Given the description of an element on the screen output the (x, y) to click on. 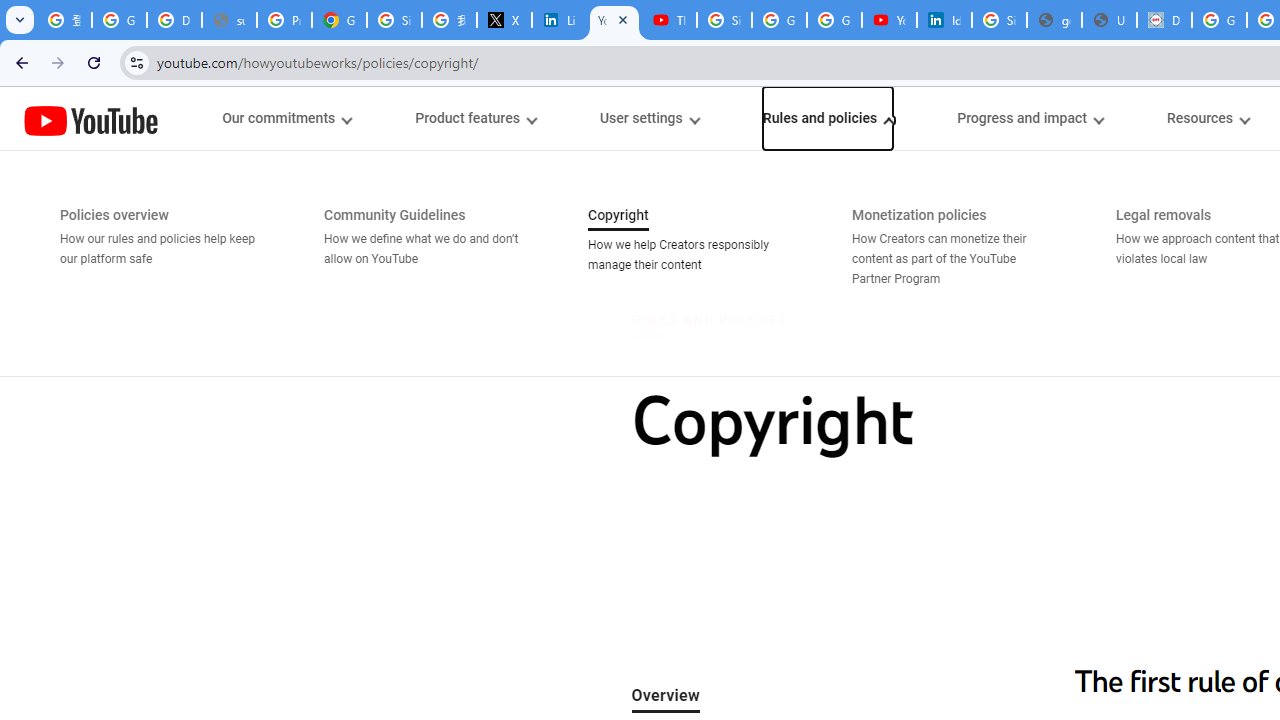
Rules and policies menupopup (827, 118)
google_privacy_policy_en.pdf (1053, 20)
How YouTube Works (91, 118)
Progress and impact menupopup (1030, 118)
YouTube Copyright Rules & Policies - How YouTube Works (614, 20)
Sign in - Google Accounts (998, 20)
X (504, 20)
Identity verification via Persona | LinkedIn Help (943, 20)
View site information (136, 62)
